Given the description of an element on the screen output the (x, y) to click on. 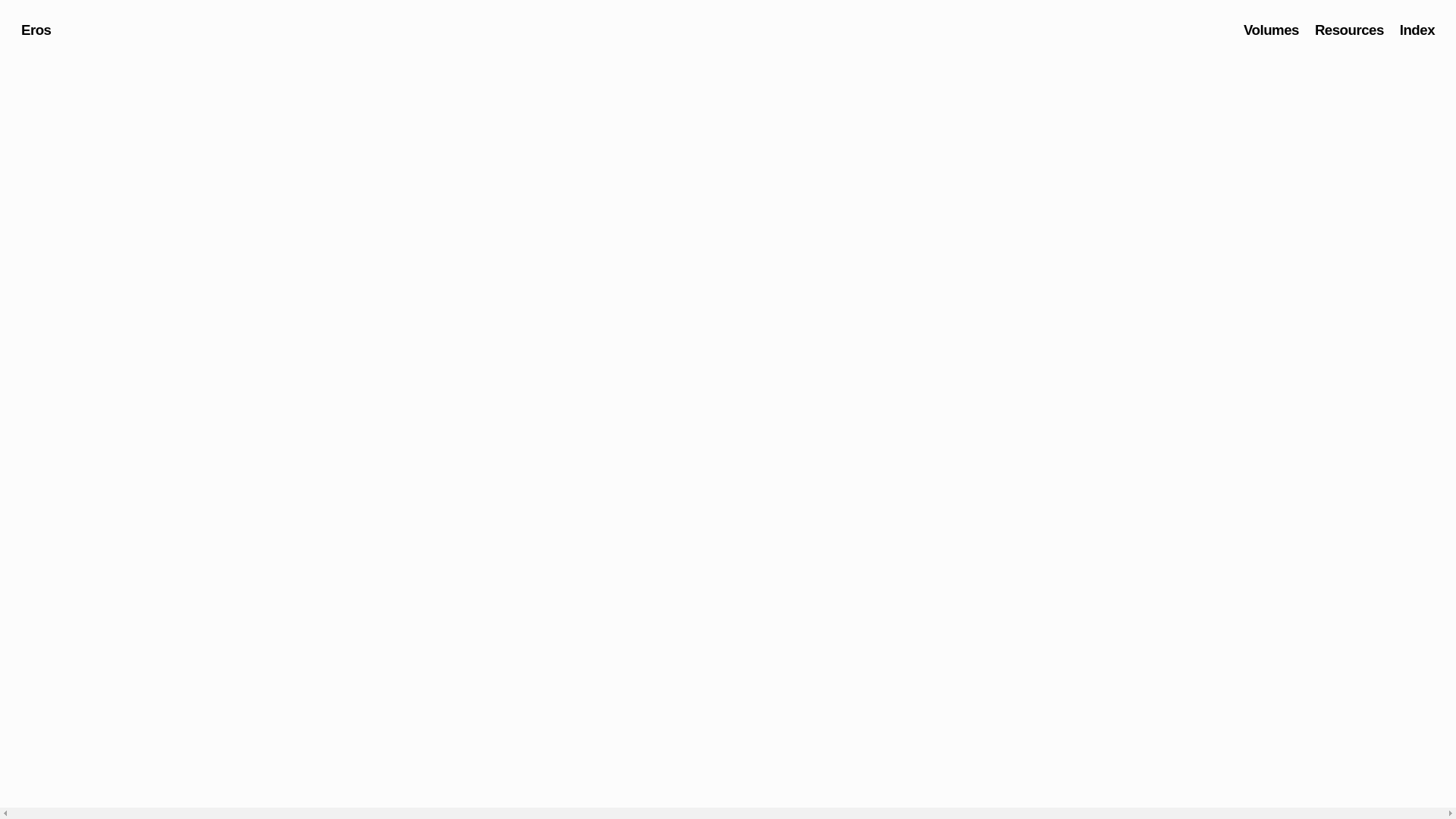
Eros Element type: text (35, 29)
Resources Element type: text (1348, 29)
Index Element type: text (1416, 29)
Volumes Element type: text (1271, 29)
